Given the description of an element on the screen output the (x, y) to click on. 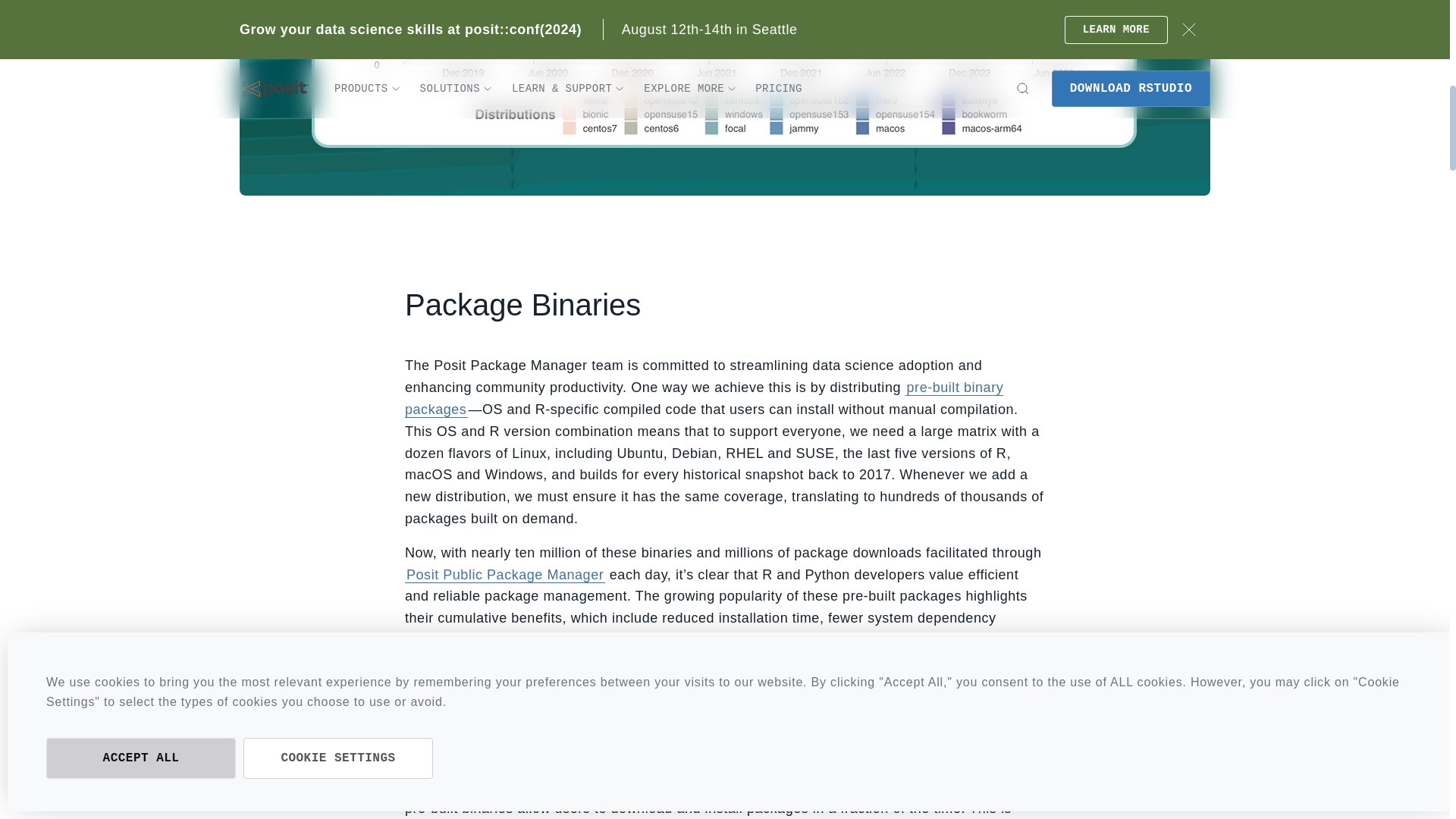
ACCEPT ALL (140, 348)
COOKIE SETTINGS (337, 348)
